Given the description of an element on the screen output the (x, y) to click on. 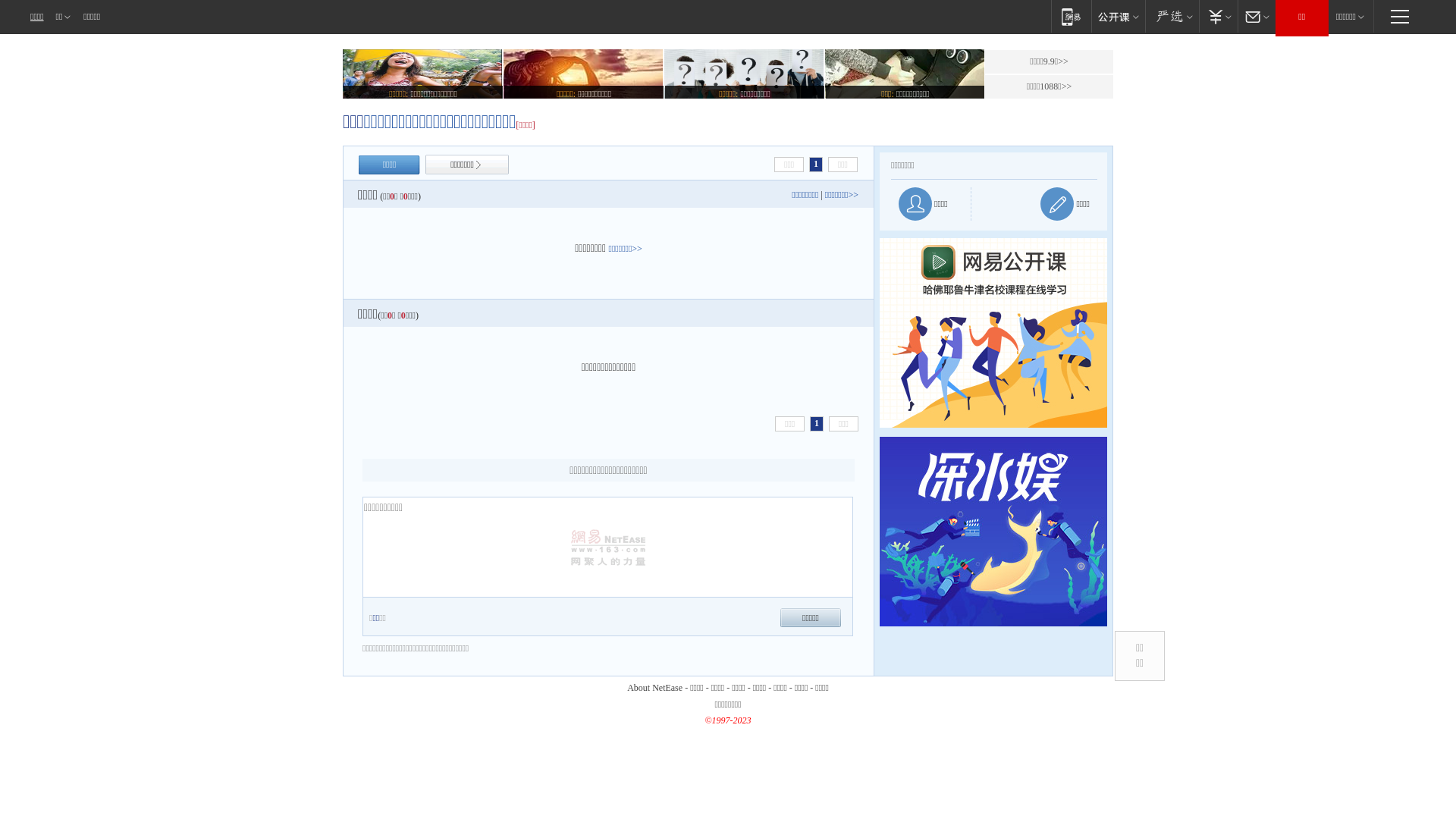
About NetEase Element type: text (654, 687)
